Given the description of an element on the screen output the (x, y) to click on. 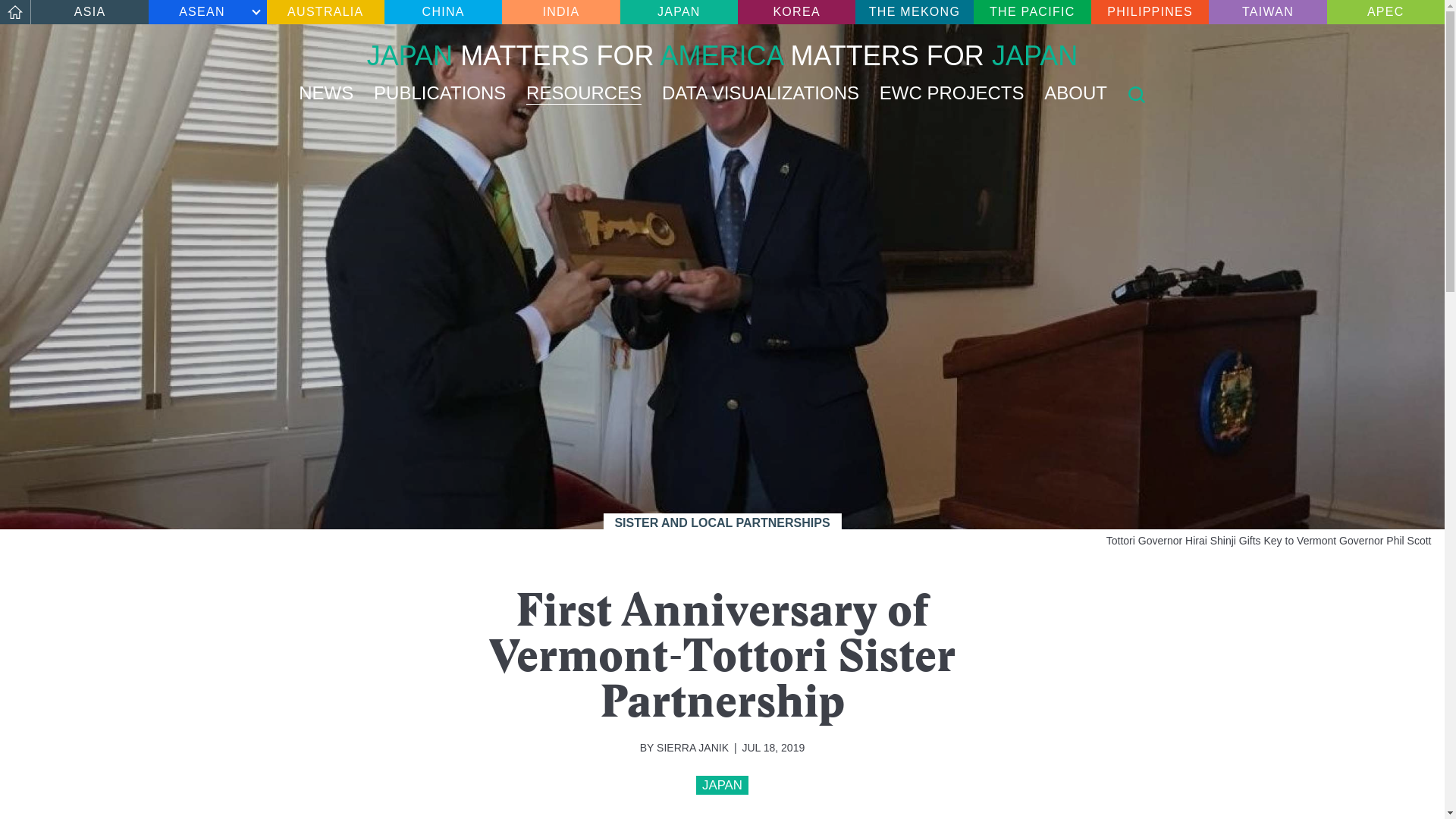
AUSTRALIA (325, 12)
THE MEKONG (914, 12)
RESOURCES (583, 93)
JAPAN (721, 784)
PHILIPPINES (1149, 12)
INDIA (722, 55)
ASEAN (561, 12)
JAPAN (207, 12)
EWC PROJECTS (679, 12)
